Given the description of an element on the screen output the (x, y) to click on. 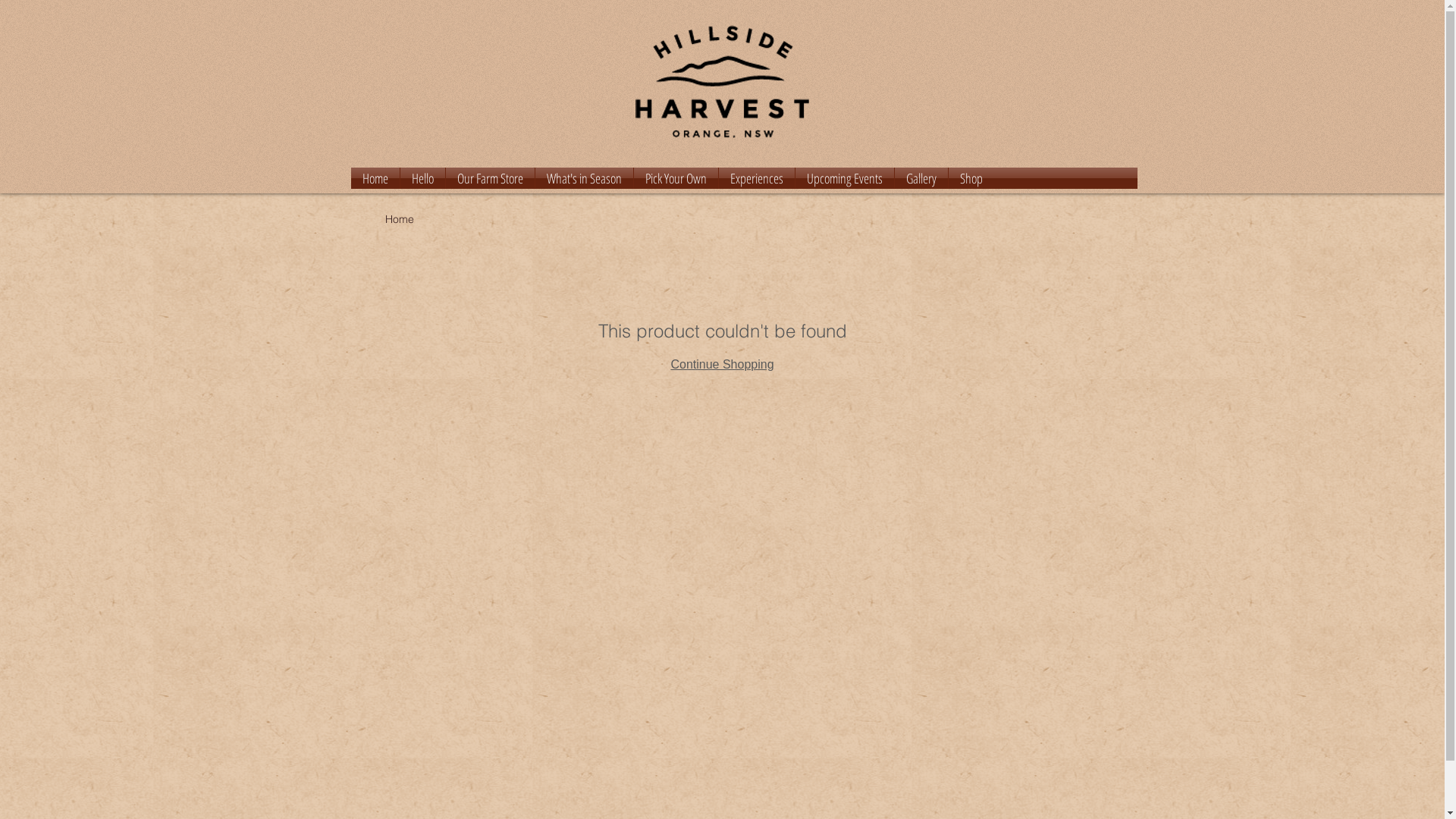
Home Element type: text (374, 177)
Our Farm Store Element type: text (489, 177)
Upcoming Events Element type: text (843, 177)
Hillside Harvest Master Logo BLK RGB.png Element type: hover (722, 81)
Experiences Element type: text (756, 177)
Continue Shopping Element type: text (721, 363)
Home Element type: text (399, 218)
Gallery Element type: text (920, 177)
Hello Element type: text (422, 177)
What's in Season Element type: text (584, 177)
Shop Element type: text (970, 177)
Pick Your Own Element type: text (675, 177)
